Given the description of an element on the screen output the (x, y) to click on. 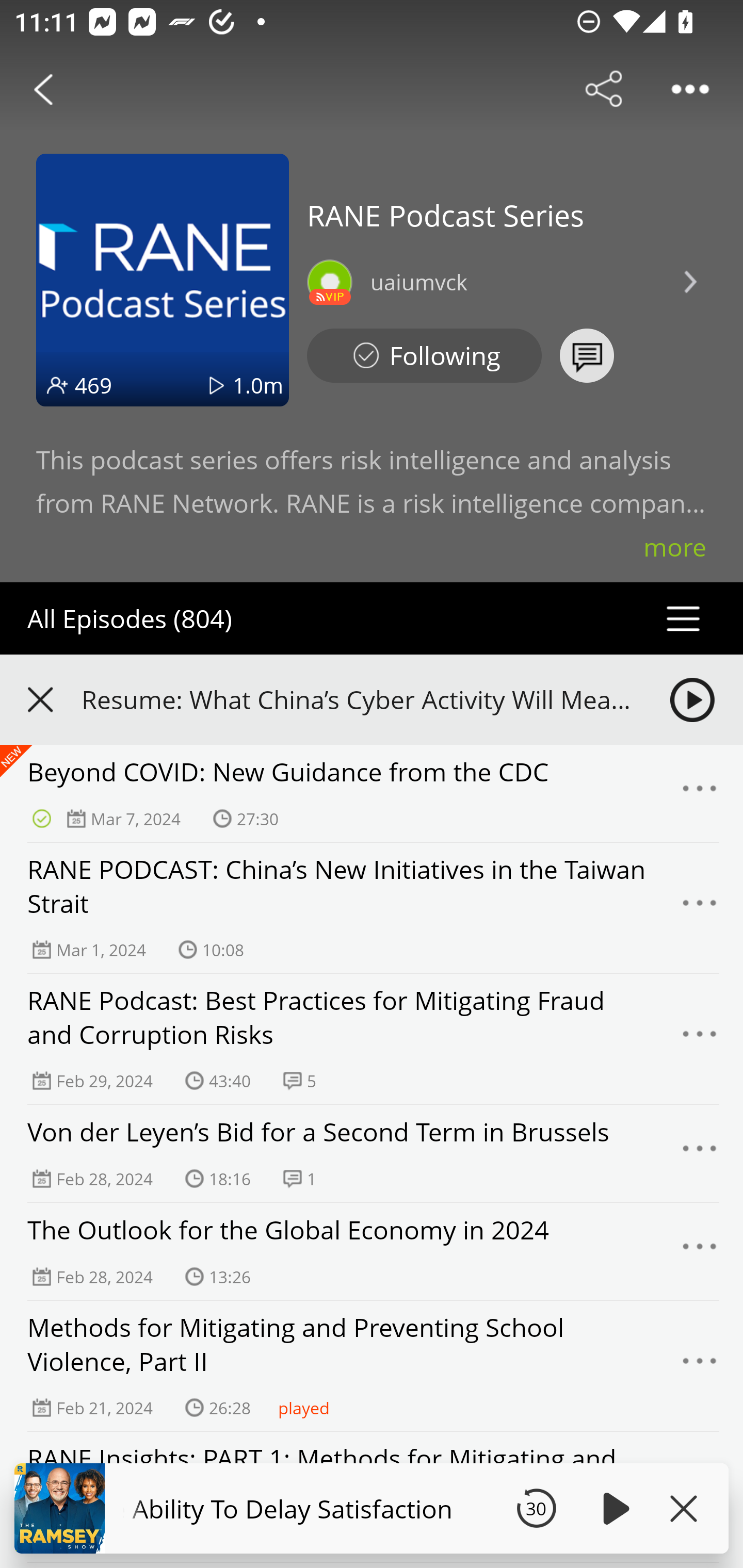
Back (43, 88)
Podbean Following (423, 355)
469 (93, 384)
more (674, 546)
Menu (699, 794)
Menu (699, 908)
Menu (699, 1038)
Menu (699, 1153)
Menu (699, 1251)
Menu (699, 1366)
Play (613, 1507)
30 Seek Backward (536, 1508)
